Given the description of an element on the screen output the (x, y) to click on. 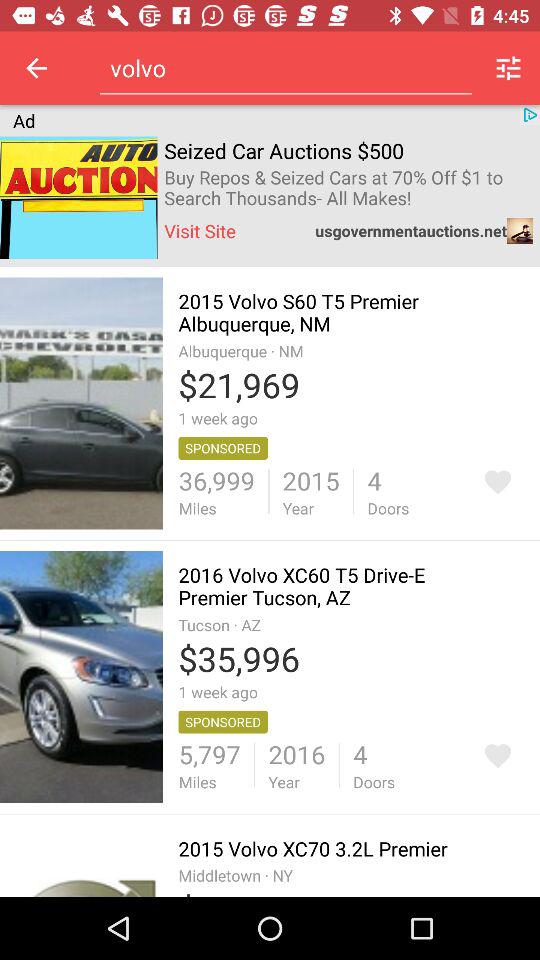
launch item to the left of usgovernmentauctions.net item (199, 230)
